Given the description of an element on the screen output the (x, y) to click on. 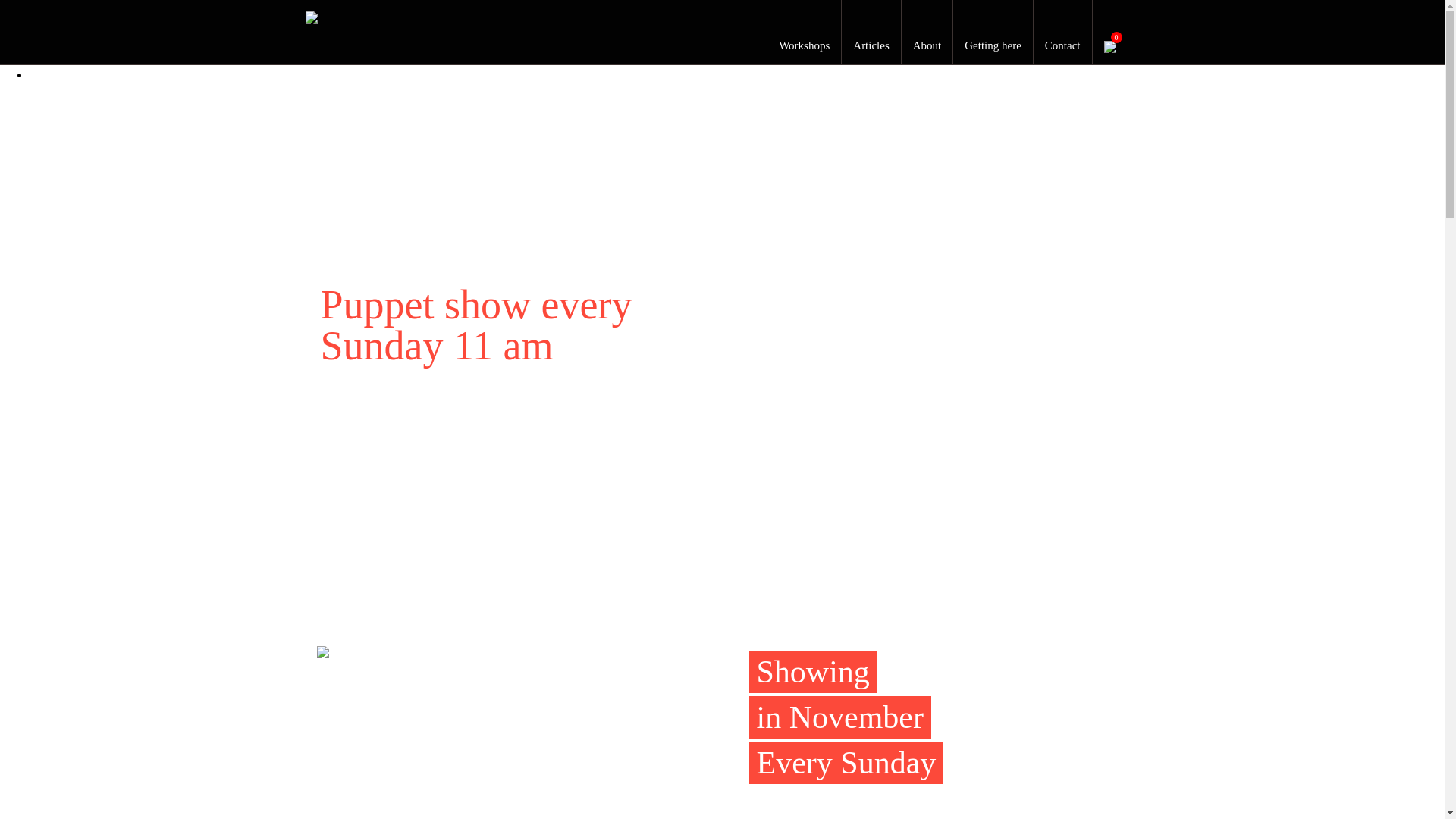
Getting here Element type: text (992, 45)
0 Element type: text (1109, 45)
Articles Element type: text (870, 45)
Workshops Element type: text (803, 45)
About Element type: text (927, 45)
Contact Element type: text (1062, 45)
